Given the description of an element on the screen output the (x, y) to click on. 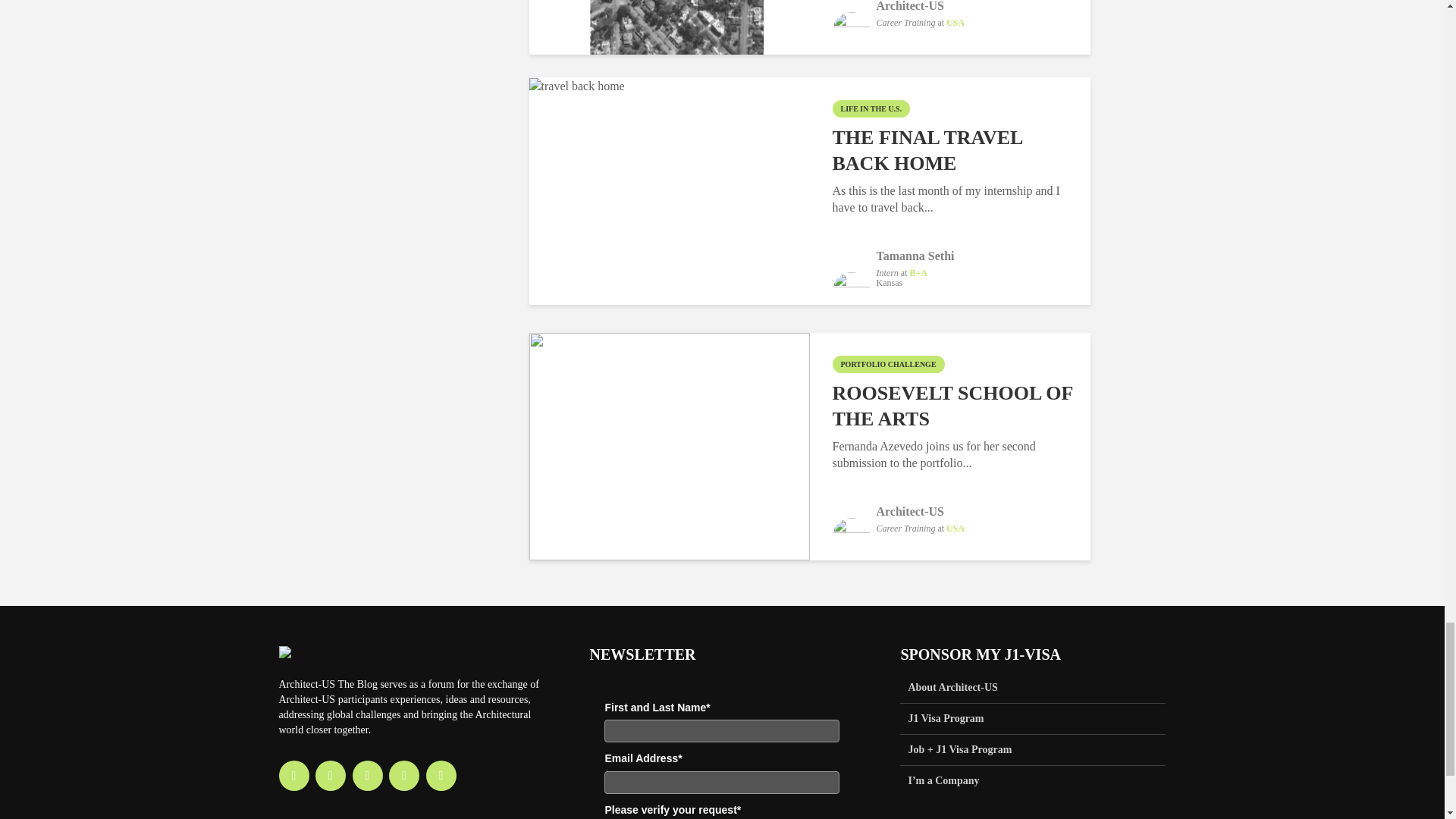
Roosevelt School of the Arts (669, 444)
Facebook (293, 775)
YouTube (403, 775)
The final travel back home (576, 84)
Linkedin (366, 775)
Instagram (330, 775)
Mail (441, 775)
